Given the description of an element on the screen output the (x, y) to click on. 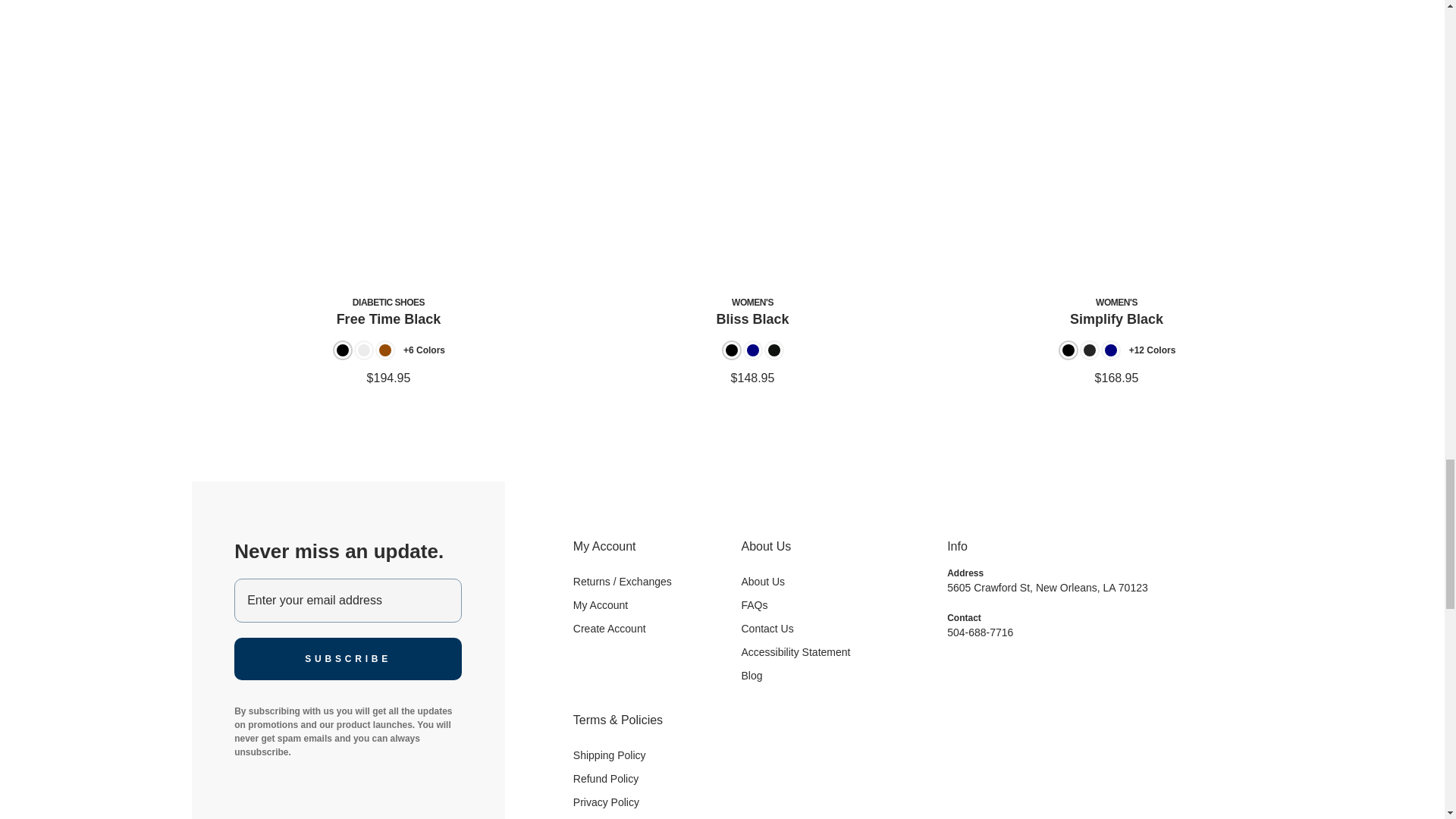
free-time-black (342, 349)
bliss-black-leopard (772, 349)
simplify-nero-snake (1089, 349)
simplify-navy (1110, 349)
simplify-black (1068, 349)
bliss-navy (751, 349)
free-time-teak (384, 349)
free-time-white (363, 349)
bliss-black (730, 349)
